Given the description of an element on the screen output the (x, y) to click on. 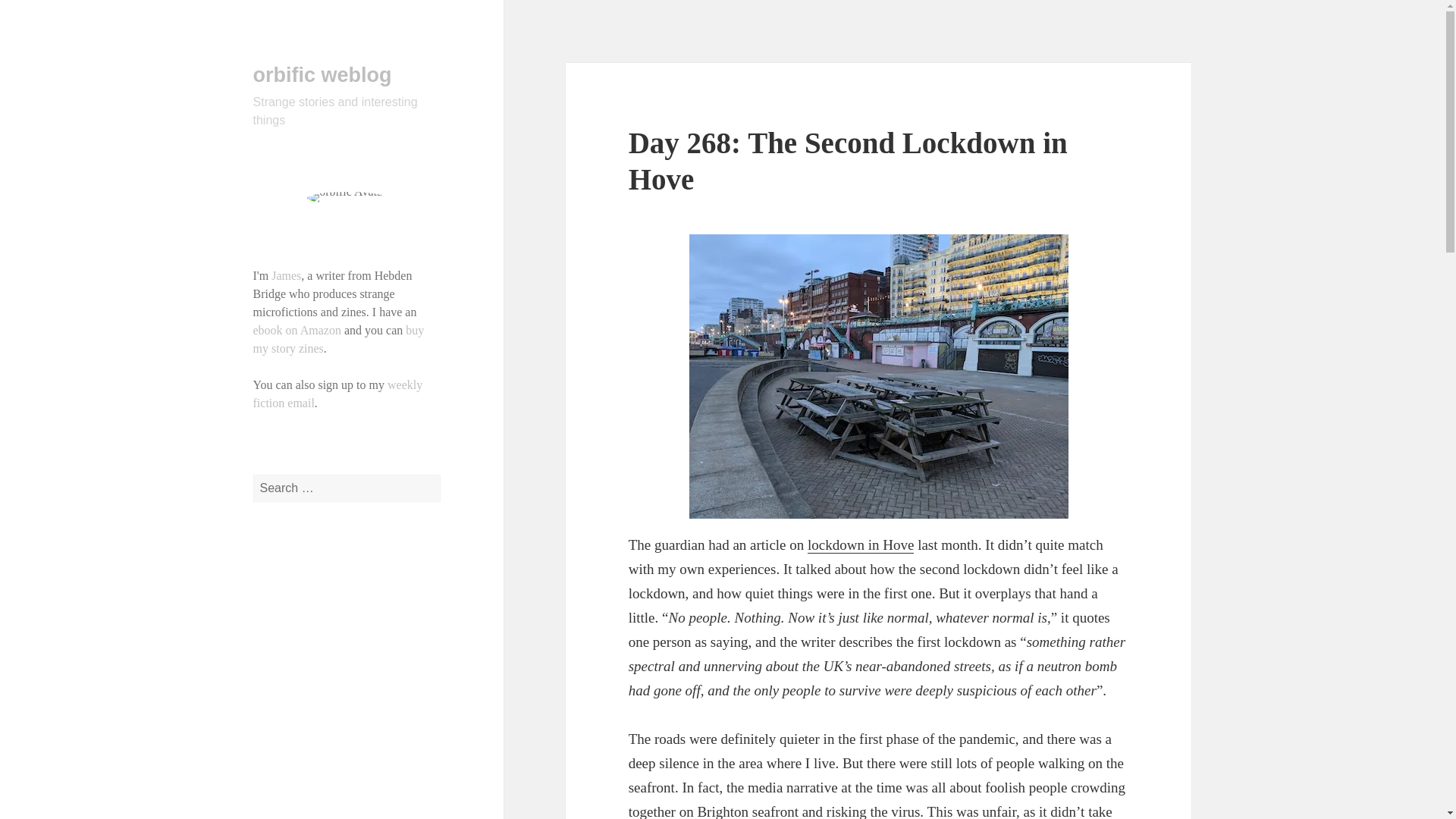
buy my story zines (339, 338)
ebook on Amazon (296, 329)
weekly fiction email (338, 393)
James (285, 275)
orbific weblog (322, 74)
lockdown in Hove (861, 545)
